Given the description of an element on the screen output the (x, y) to click on. 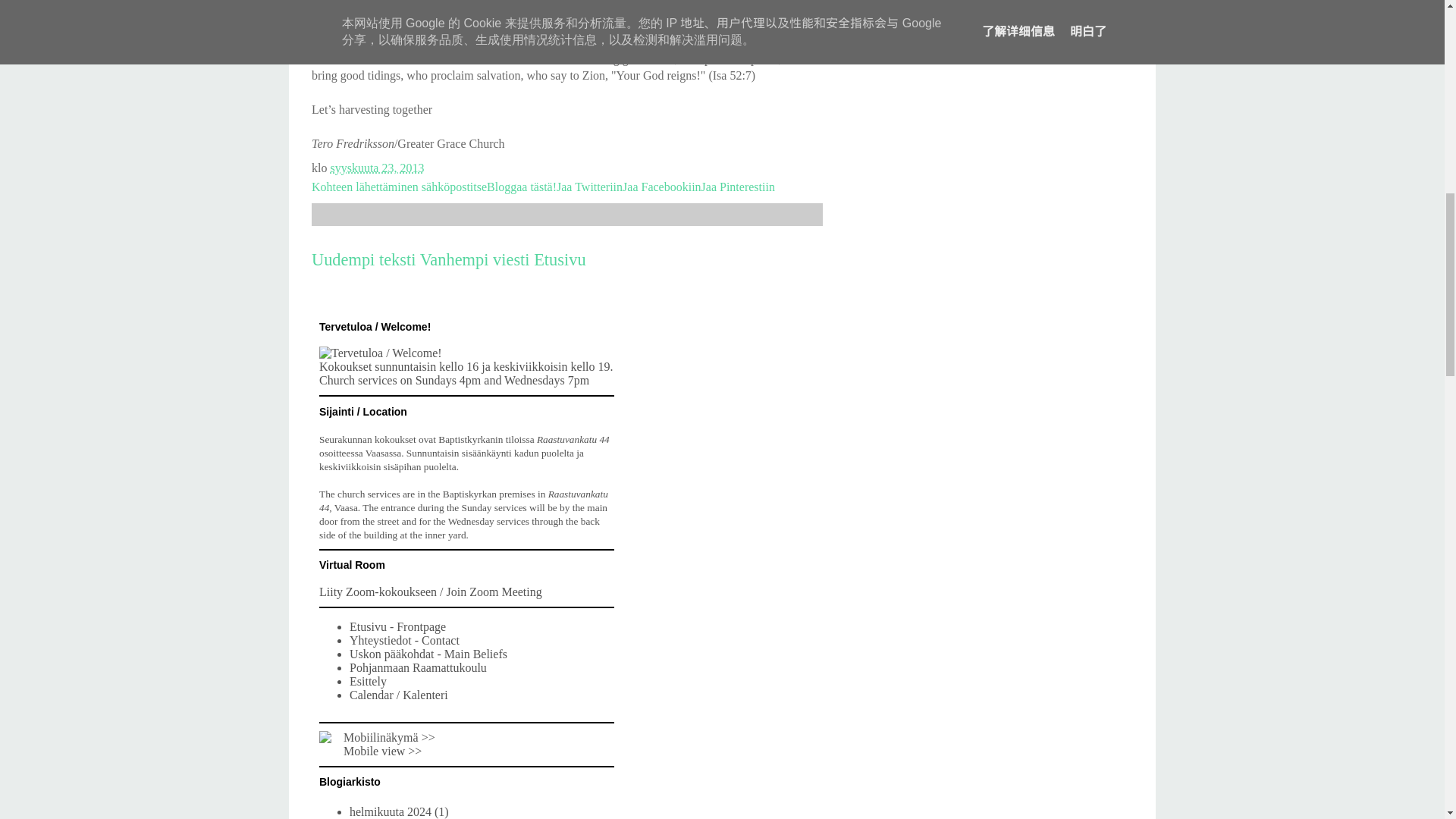
permanent link (376, 167)
Jaa Twitteriin (589, 186)
Etusivu (559, 259)
Yhteystiedot - Contact (404, 640)
Vanhempi viesti (474, 259)
Pohjanmaan Raamattukoulu (417, 667)
Jaa Pinterestiin (737, 186)
Jaa Pinterestiin (737, 186)
Jaa Facebookiin (662, 186)
Etusivu - Frontpage (397, 626)
Vanhempi viesti (474, 259)
Uudempi teksti (362, 259)
syyskuuta 23, 2013 (376, 167)
Jaa Twitteriin (589, 186)
Esittely (368, 680)
